Given the description of an element on the screen output the (x, y) to click on. 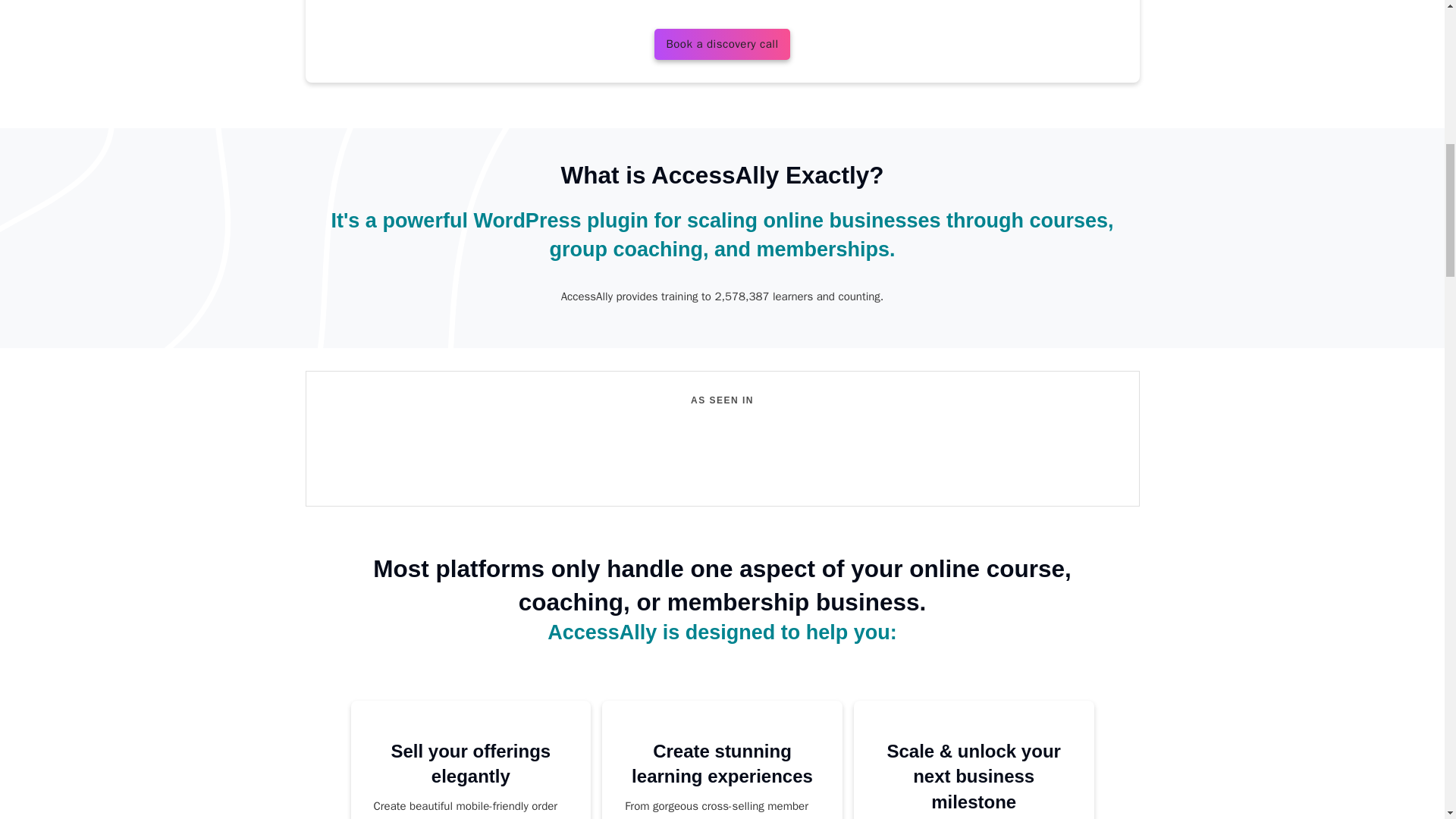
Inc. logo - AccessAlly (429, 417)
digital-marketer-logo - AccessAlly (842, 417)
copyhackers-logo - AccessAlly (761, 417)
Book a discovery call (721, 43)
entrepreneur-logo - AccessAlly (601, 417)
forbes-logo-small - AccessAlly (356, 417)
fast-company-logo - AccessAlly (681, 417)
G2 Badge - AccessAlly (570, 463)
yahoo-logo-210 - AccessAlly (520, 417)
venturebeat-logo - AccessAlly (922, 417)
